Given the description of an element on the screen output the (x, y) to click on. 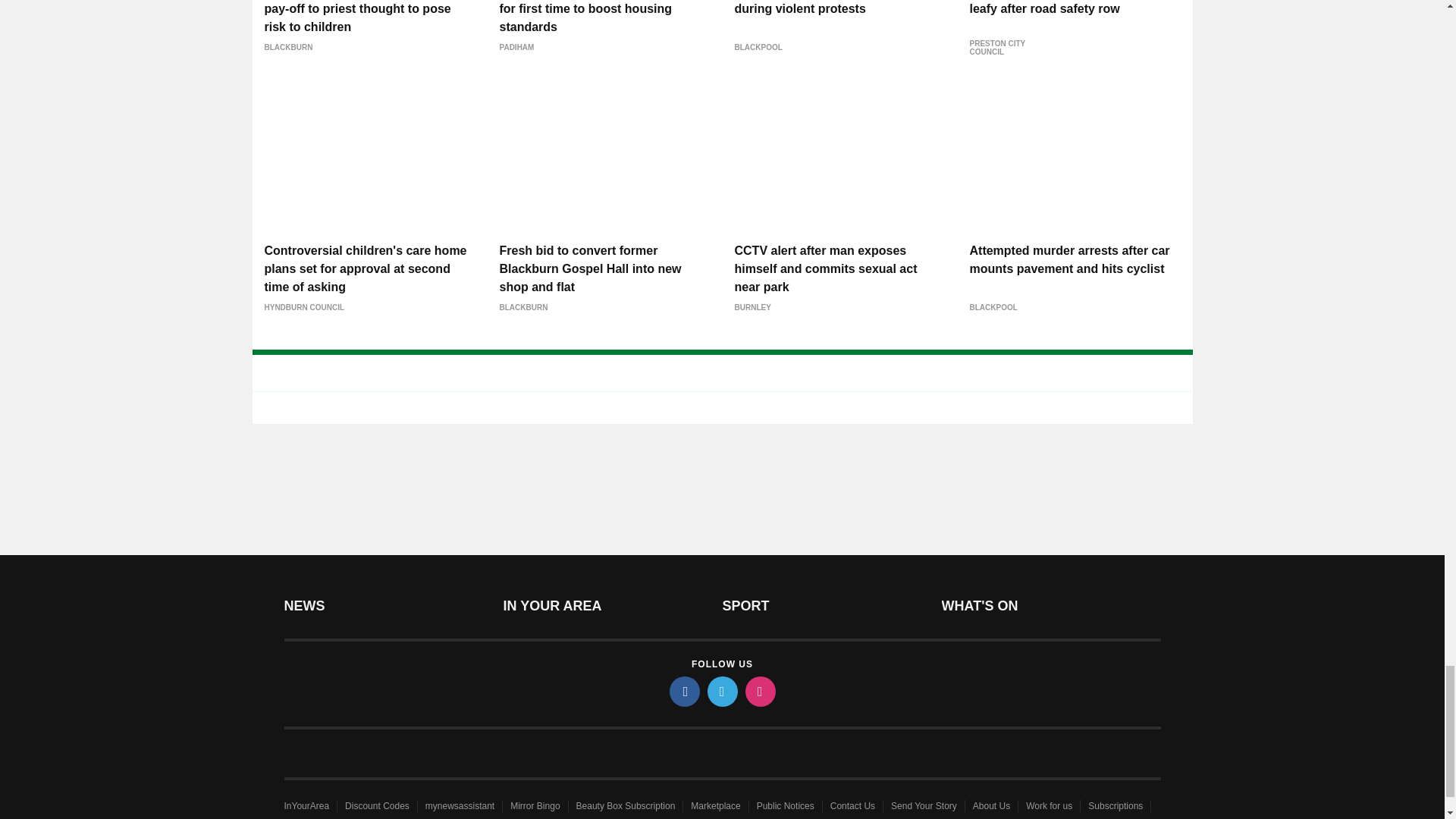
instagram (759, 691)
facebook (683, 691)
twitter (721, 691)
